Given the description of an element on the screen output the (x, y) to click on. 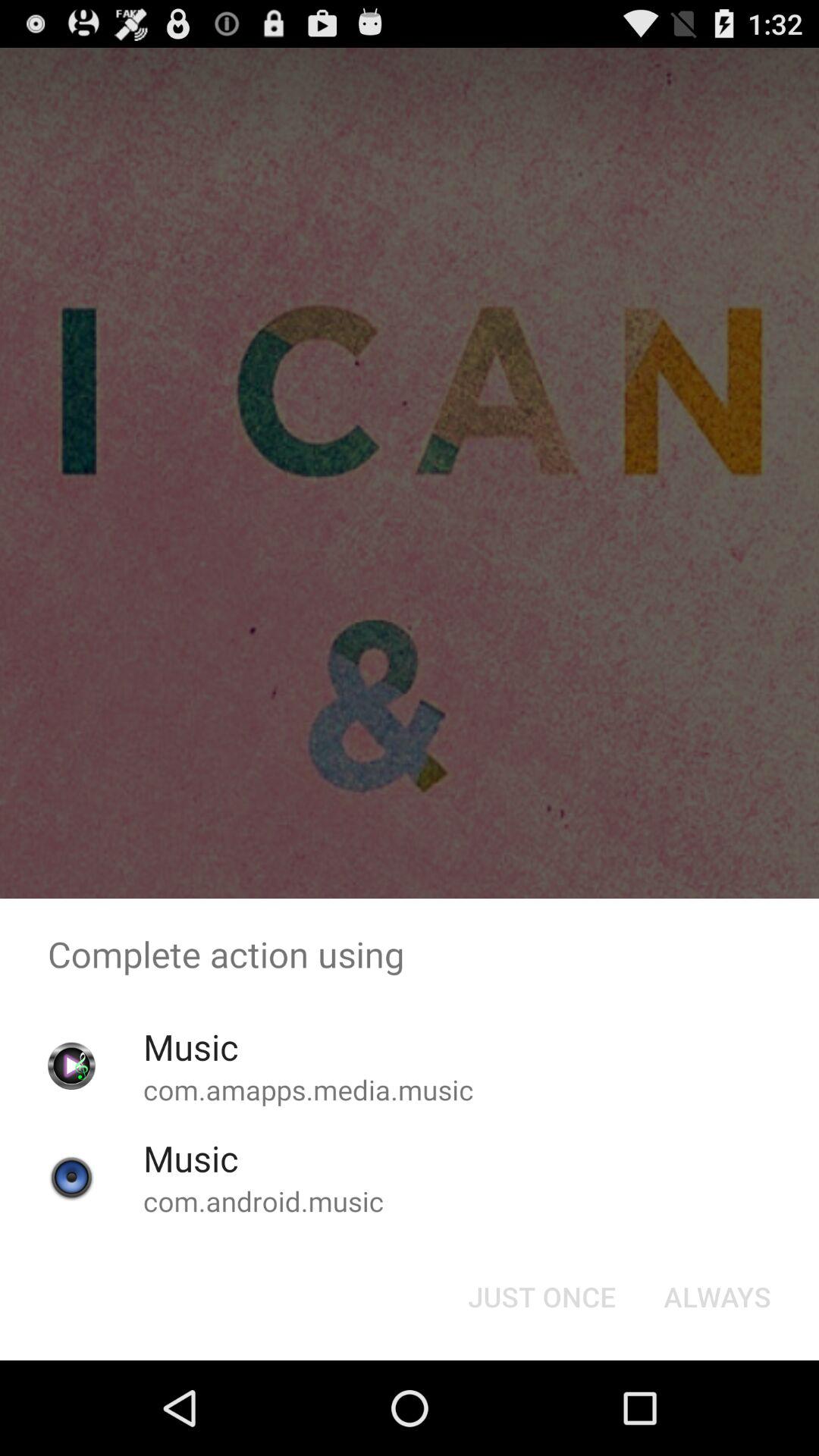
turn on the item to the right of the just once button (717, 1296)
